Given the description of an element on the screen output the (x, y) to click on. 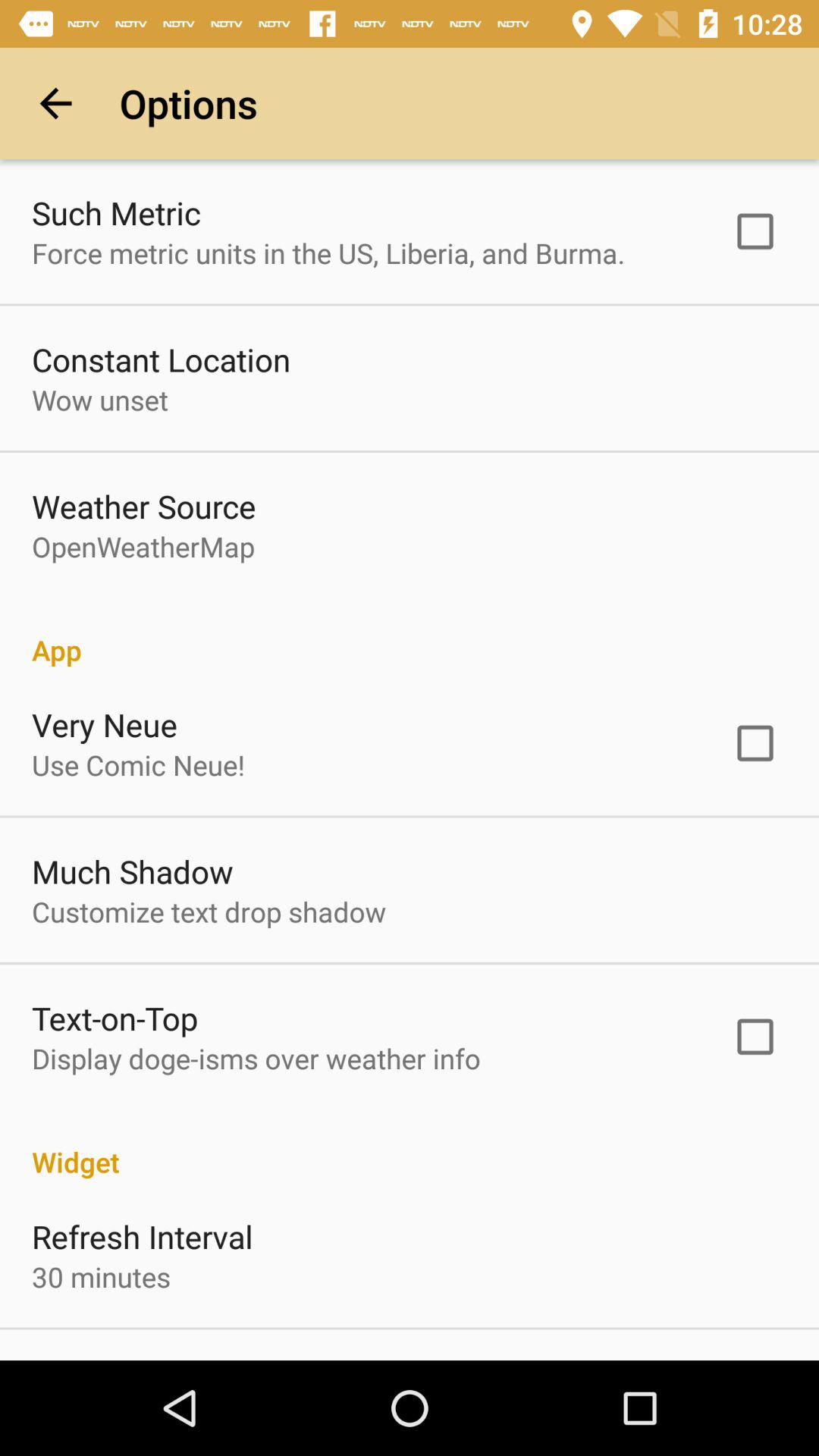
choose the force metric units app (328, 252)
